Given the description of an element on the screen output the (x, y) to click on. 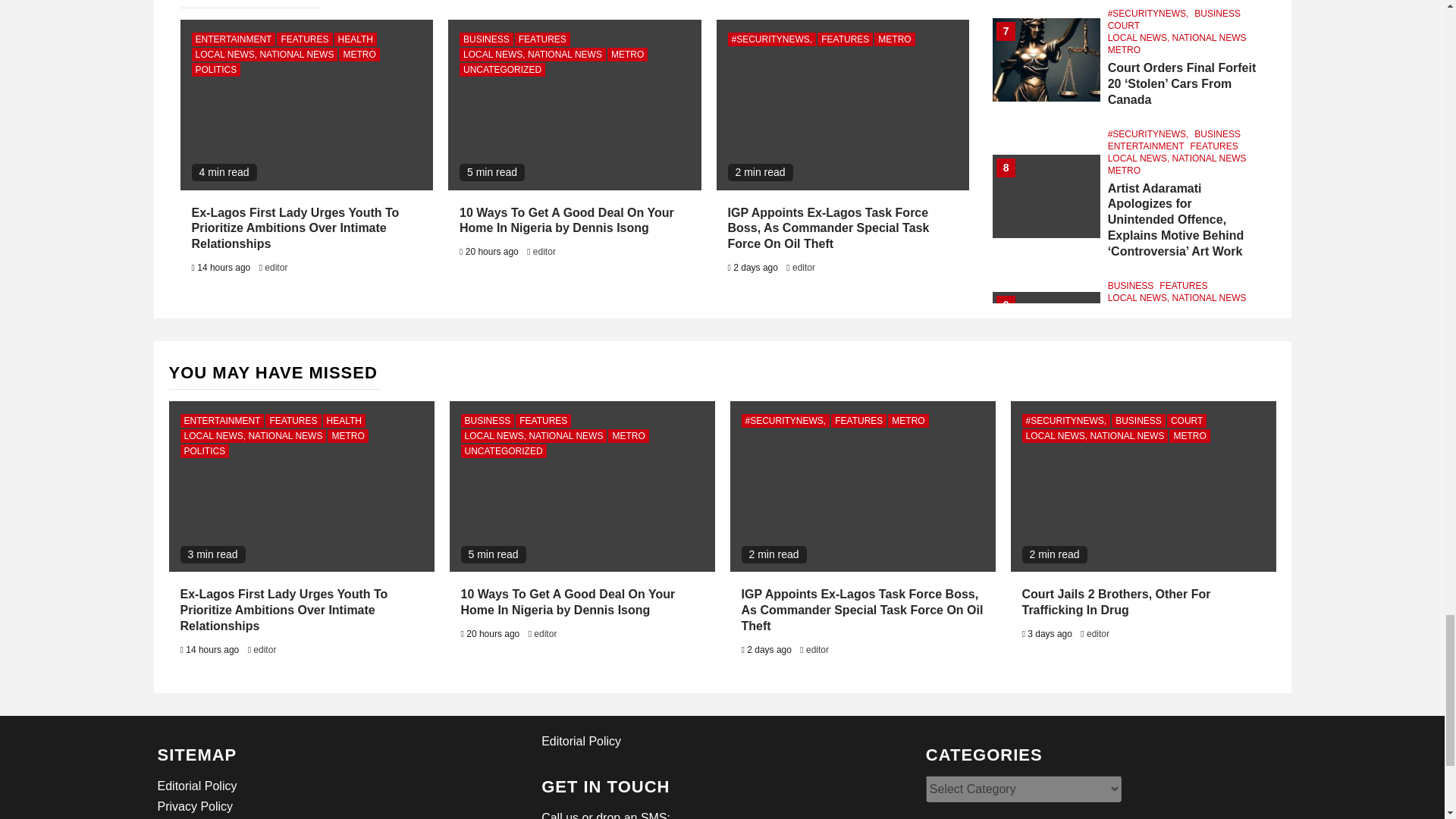
ENTERTAINMENT (232, 38)
HEALTH (355, 38)
FEATURES (303, 38)
LOCAL NEWS, NATIONAL NEWS (263, 54)
